Given the description of an element on the screen output the (x, y) to click on. 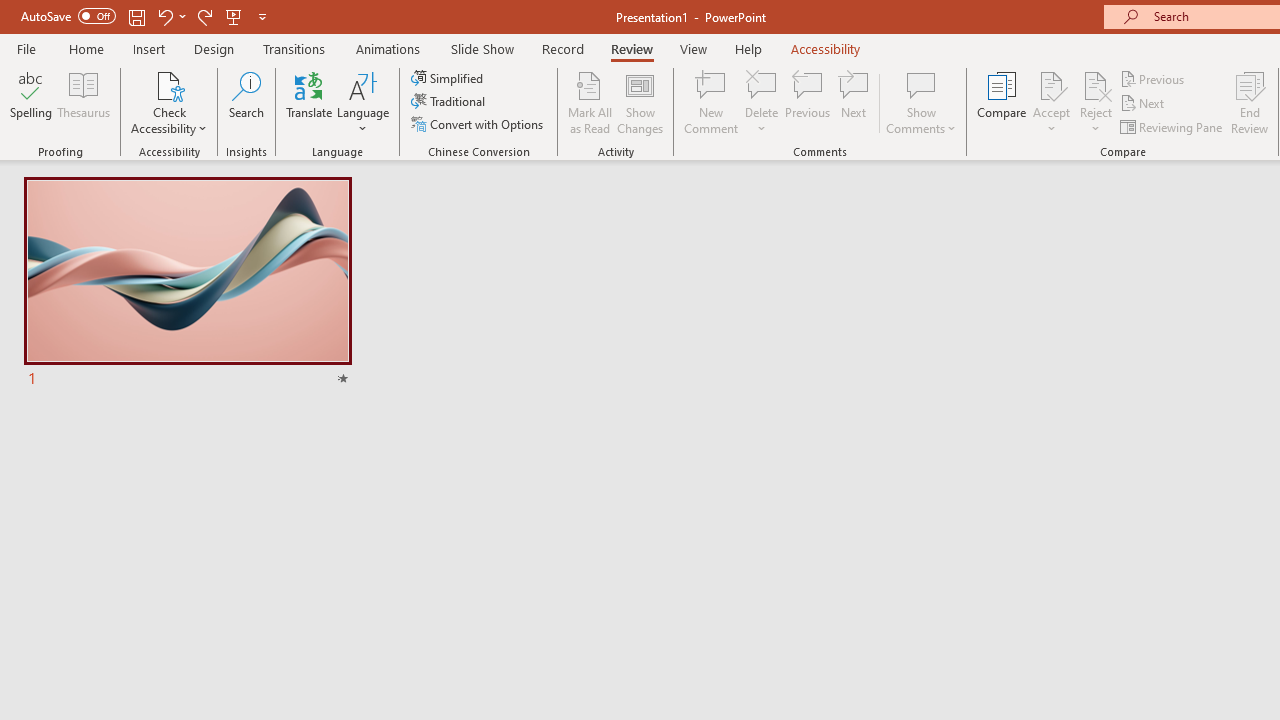
Mark All as Read (589, 102)
Reject (1096, 102)
Accept (1051, 102)
Thesaurus... (83, 102)
Language (363, 102)
Show Comments (921, 84)
